Given the description of an element on the screen output the (x, y) to click on. 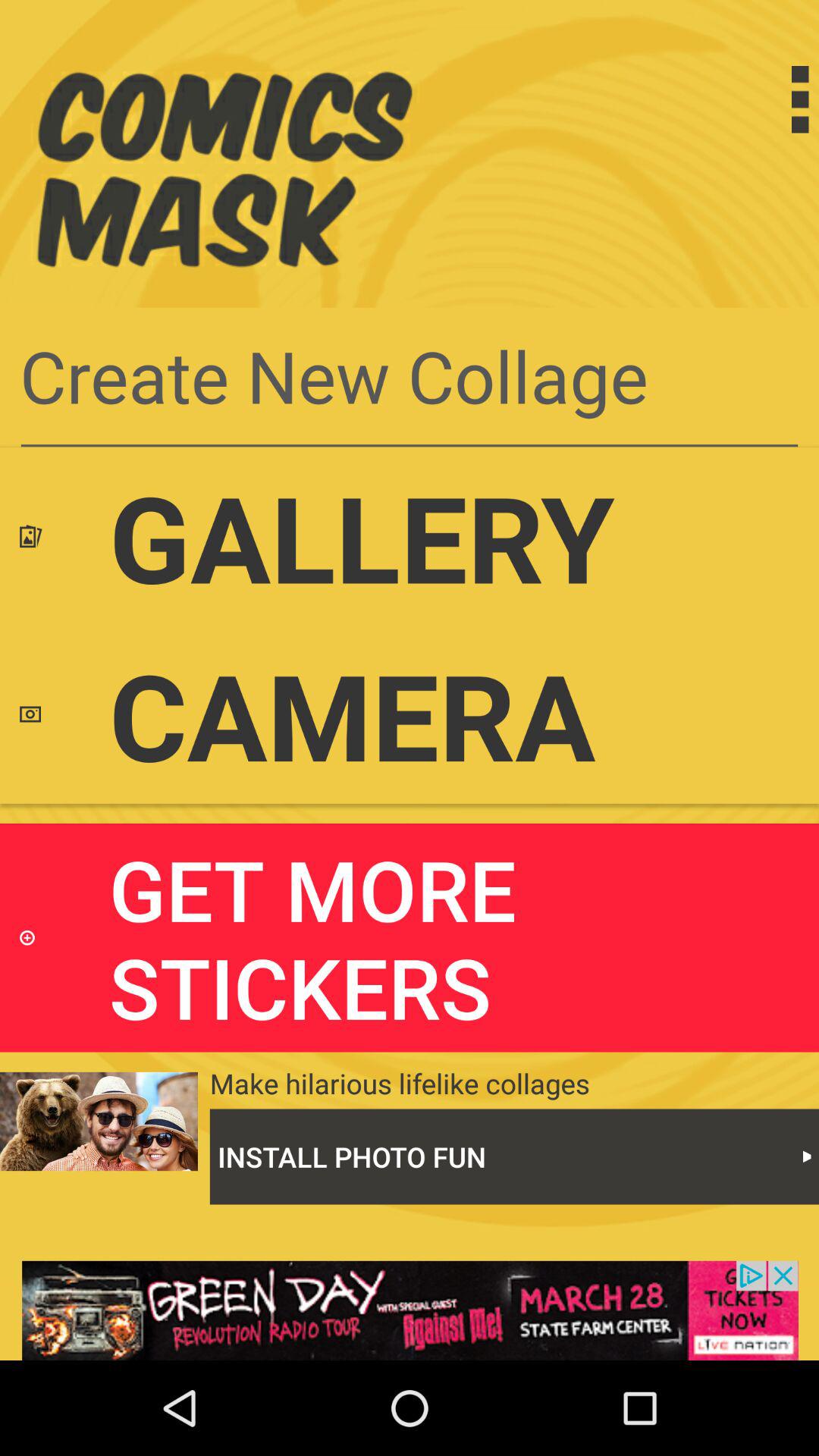
click on advertisement (409, 1310)
